Given the description of an element on the screen output the (x, y) to click on. 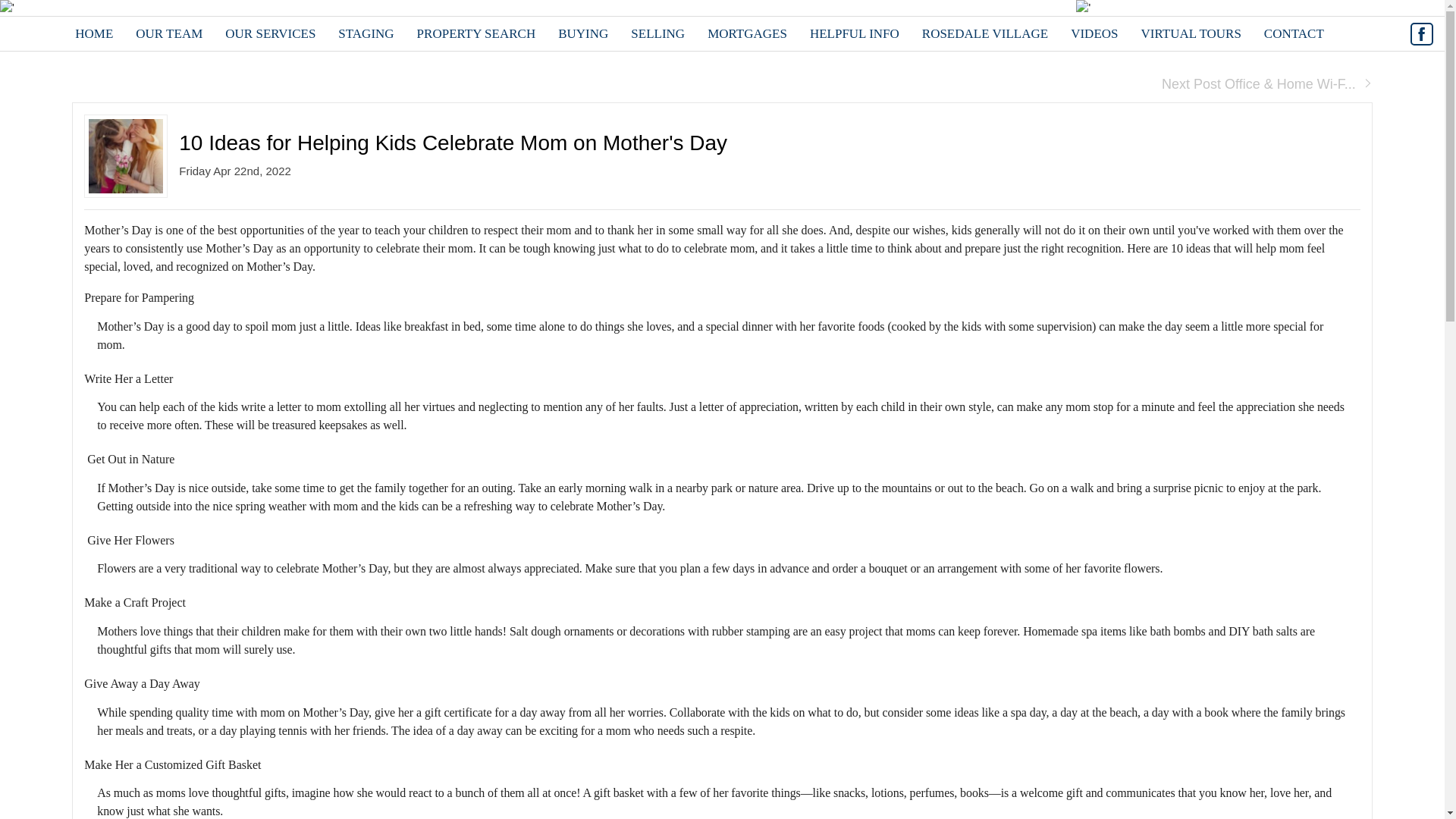
STAGING (365, 33)
OUR SERVICES (270, 33)
Staging (365, 33)
OUR TEAM (168, 33)
Home (93, 33)
Property Search (476, 33)
PROPERTY SEARCH (476, 33)
HOME (93, 33)
Our Services (270, 33)
OUR TEAM (168, 33)
Facebook (1421, 33)
